Given the description of an element on the screen output the (x, y) to click on. 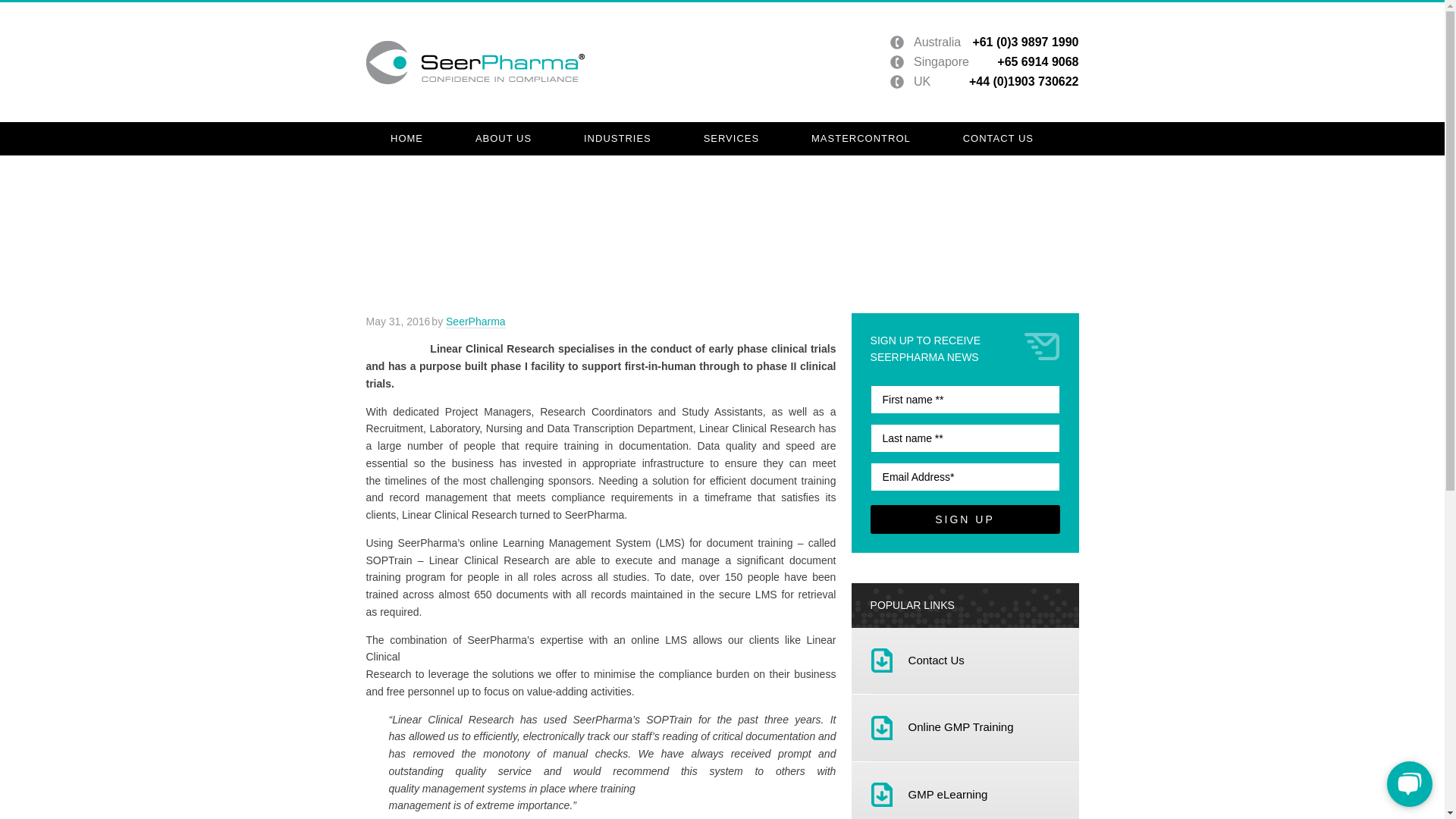
SIGN UP (964, 519)
HOME (405, 138)
ABOUT US (502, 138)
Seer Pharma (474, 62)
